Given the description of an element on the screen output the (x, y) to click on. 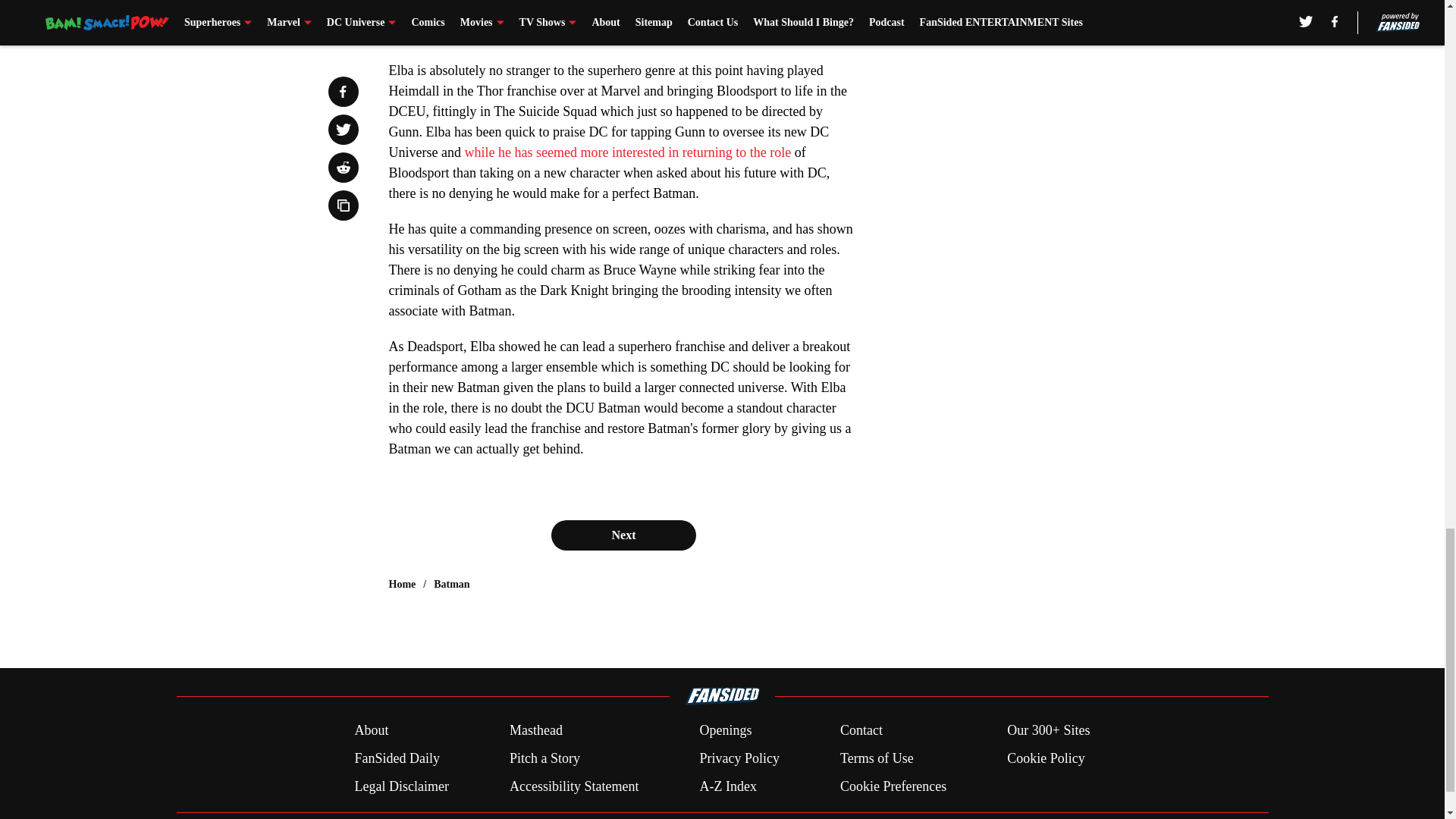
Next (622, 535)
while he has seemed more interested in returning to the role (627, 151)
